Given the description of an element on the screen output the (x, y) to click on. 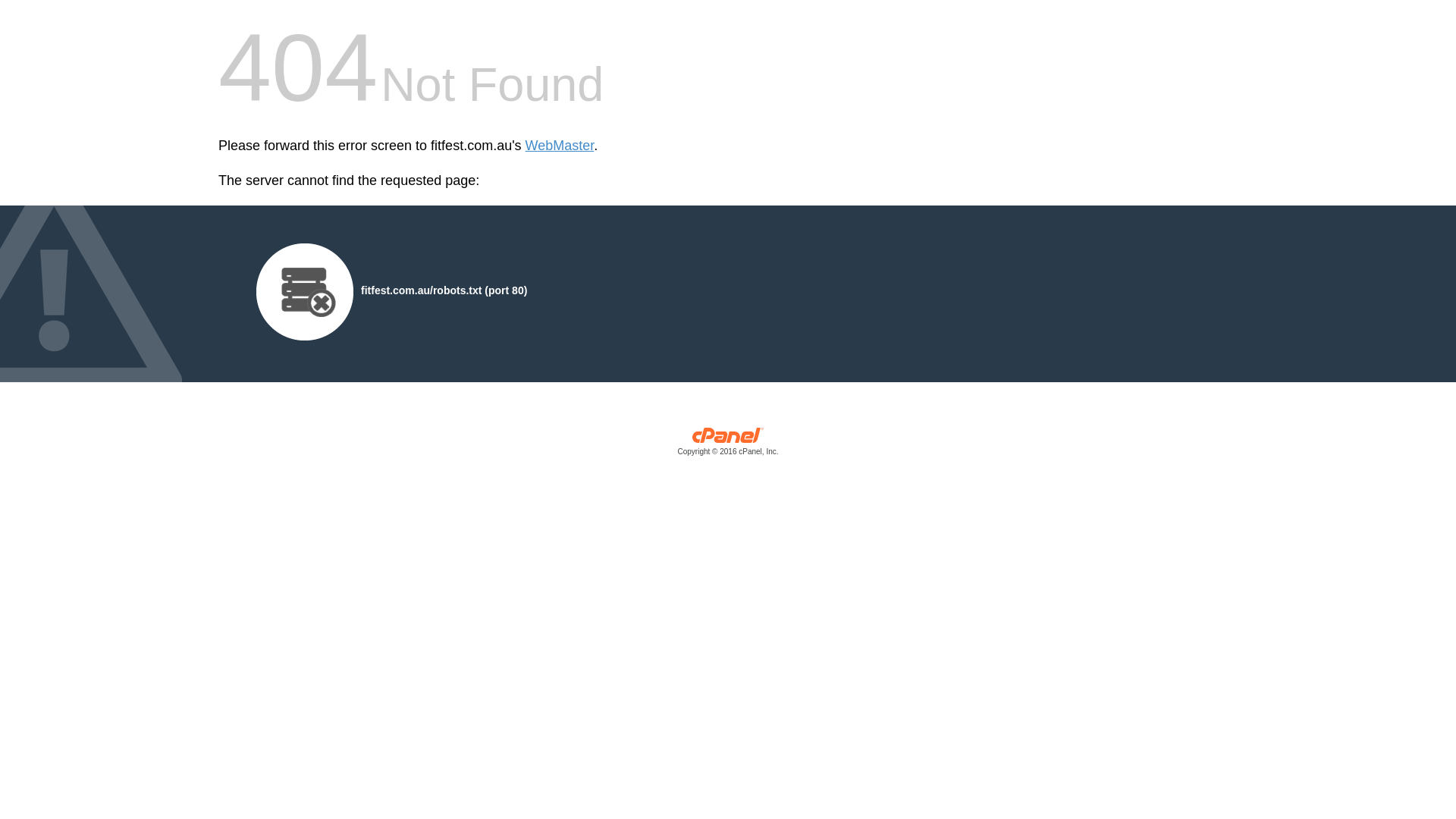
WebMaster Element type: text (559, 145)
